Given the description of an element on the screen output the (x, y) to click on. 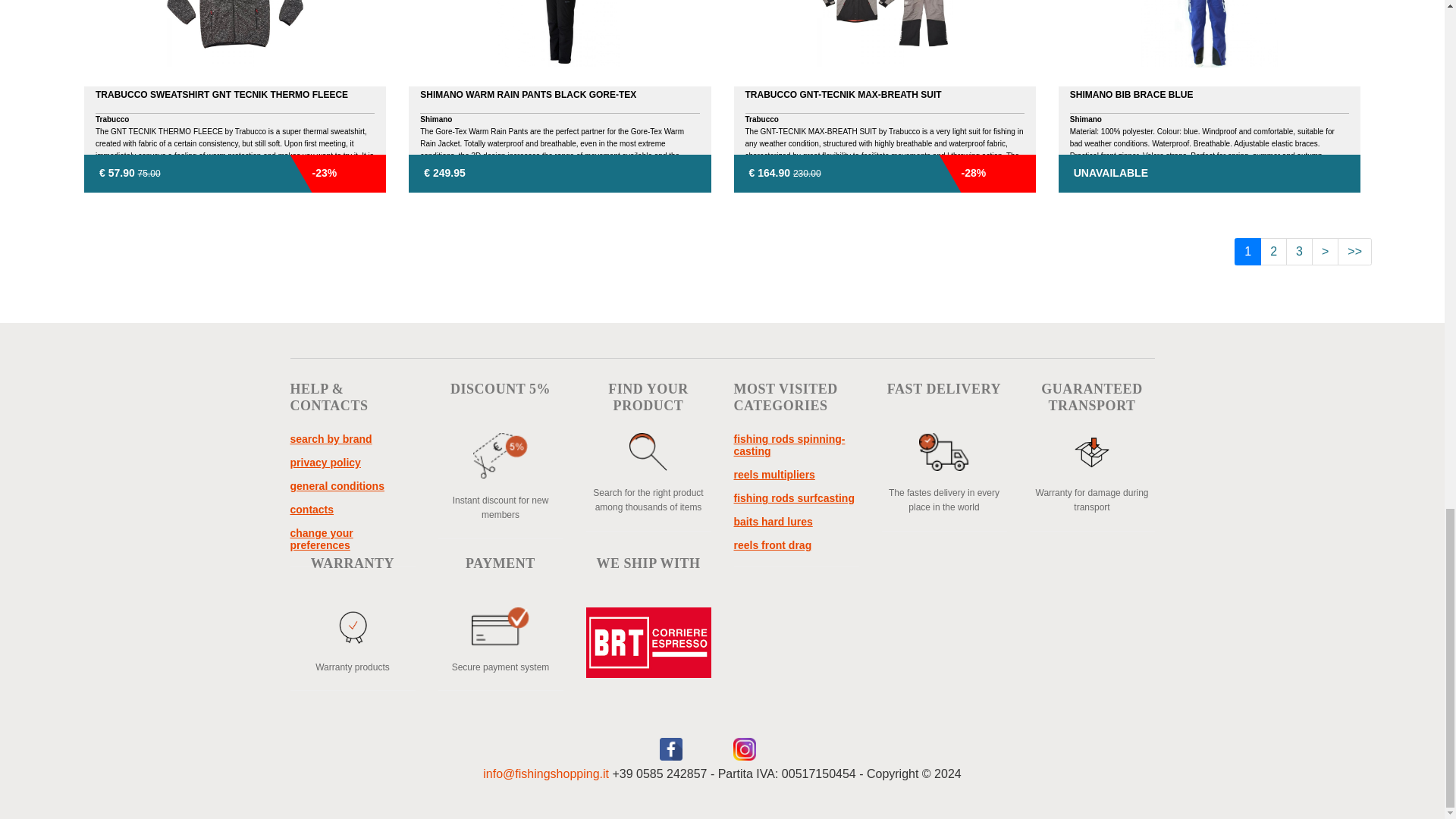
SHIMANO WARM RAIN PANTS BLACK GORE-TEX (559, 96)
TRABUCCO SWEATSHIRT GNT TECNIK THERMO FLEECE (234, 96)
TRABUCCO GNT-TECNIK MAX-BREATH SUIT (884, 96)
SHIMANO BIB BRACE BLUE (1208, 96)
